Given the description of an element on the screen output the (x, y) to click on. 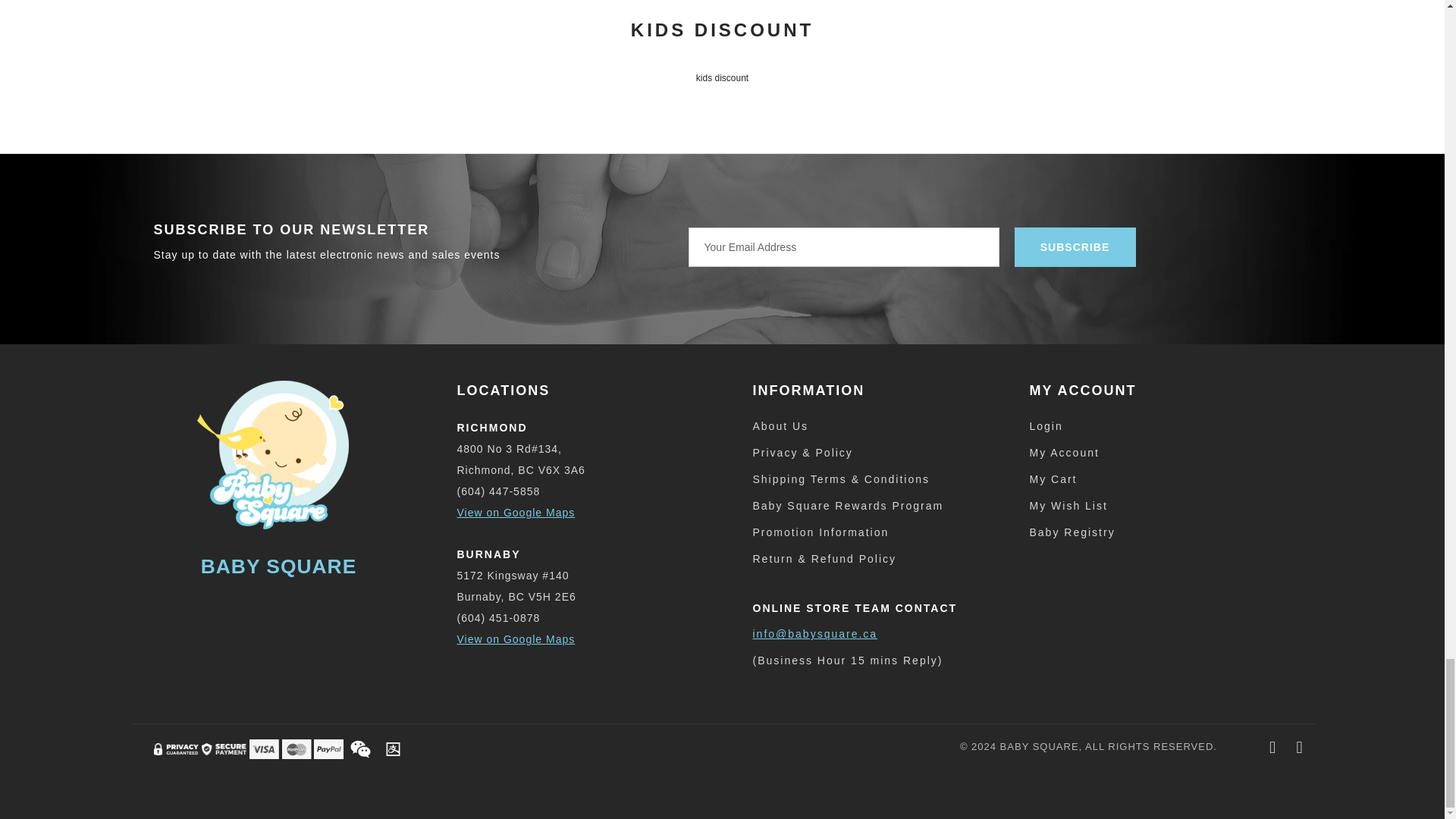
Subscribe (1074, 246)
